Given the description of an element on the screen output the (x, y) to click on. 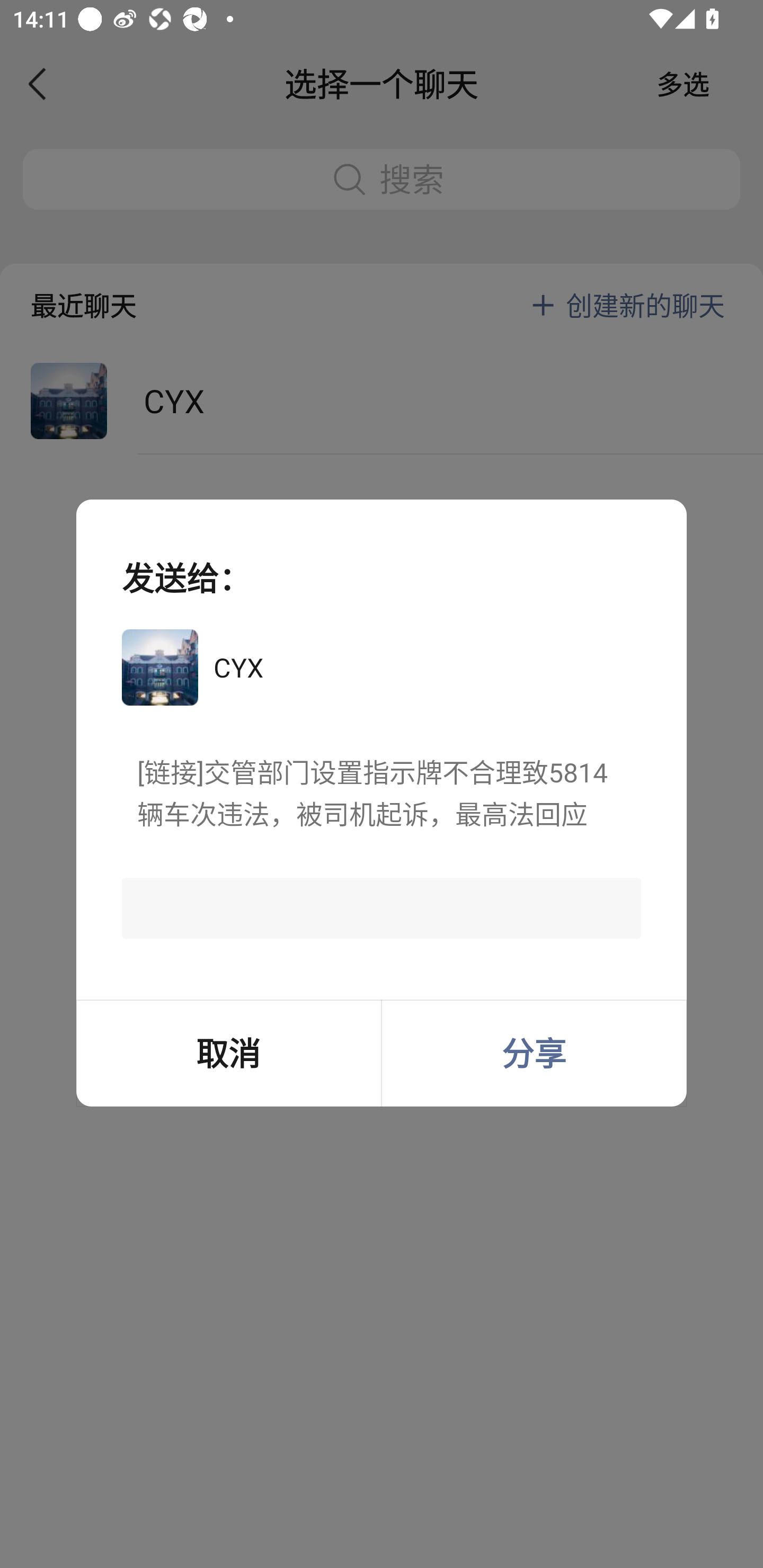
取消 (228, 1053)
分享 (534, 1053)
